Given the description of an element on the screen output the (x, y) to click on. 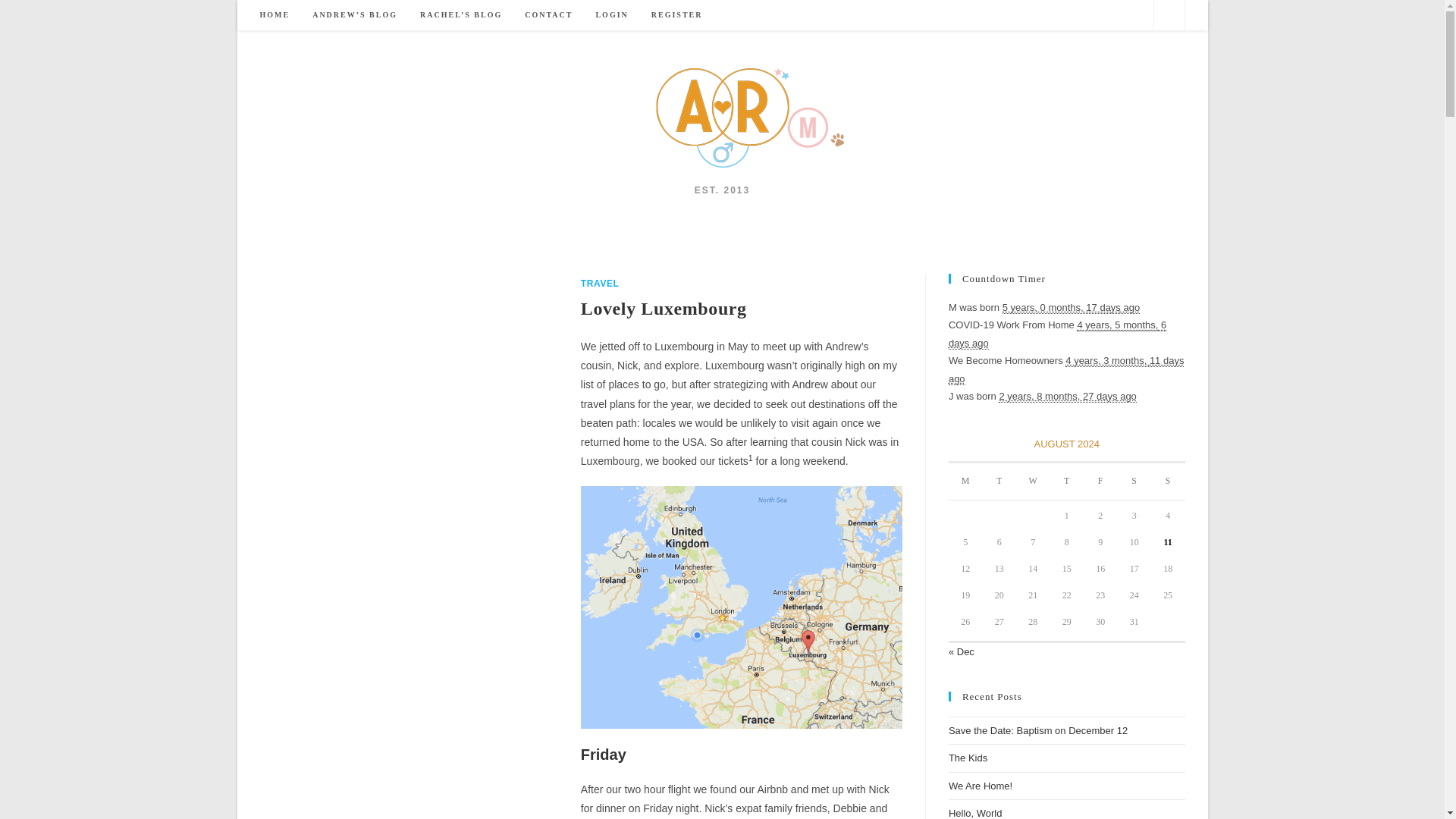
July 25th, 2019, 5:00 pm (1071, 307)
LOGIN (611, 15)
November 14th, 2021, 5:53 pm (1066, 396)
HOME (274, 15)
Monday (965, 481)
CONTACT (548, 15)
April 30th, 2020, 1:00 pm (1067, 369)
REGISTER (677, 15)
